Given the description of an element on the screen output the (x, y) to click on. 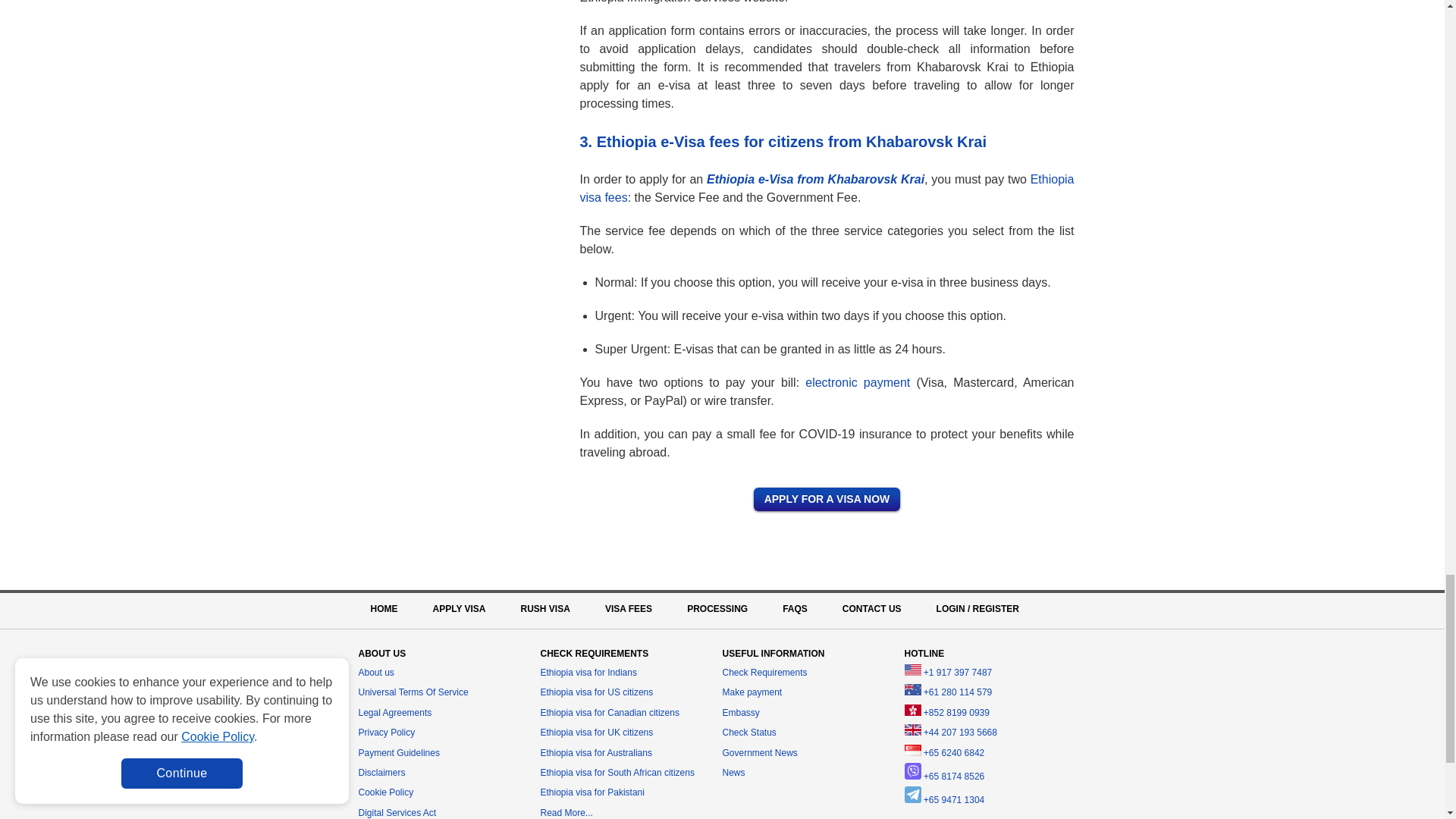
Ethiopia e-Visa from Khabarovsk Krai (815, 178)
VISA FEES (628, 608)
APPLY VISA (458, 608)
Ethiopia visa fees (826, 187)
electronic payment (857, 382)
CONTACT US (872, 608)
Payment Guidelines (398, 752)
APPLY FOR A VISA NOW (827, 499)
PROCESSING (717, 608)
About us (375, 672)
Privacy Policy (386, 732)
Universal Terms Of Service (412, 692)
Legal Agreements (394, 712)
RUSH VISA (545, 608)
HOME (383, 608)
